Given the description of an element on the screen output the (x, y) to click on. 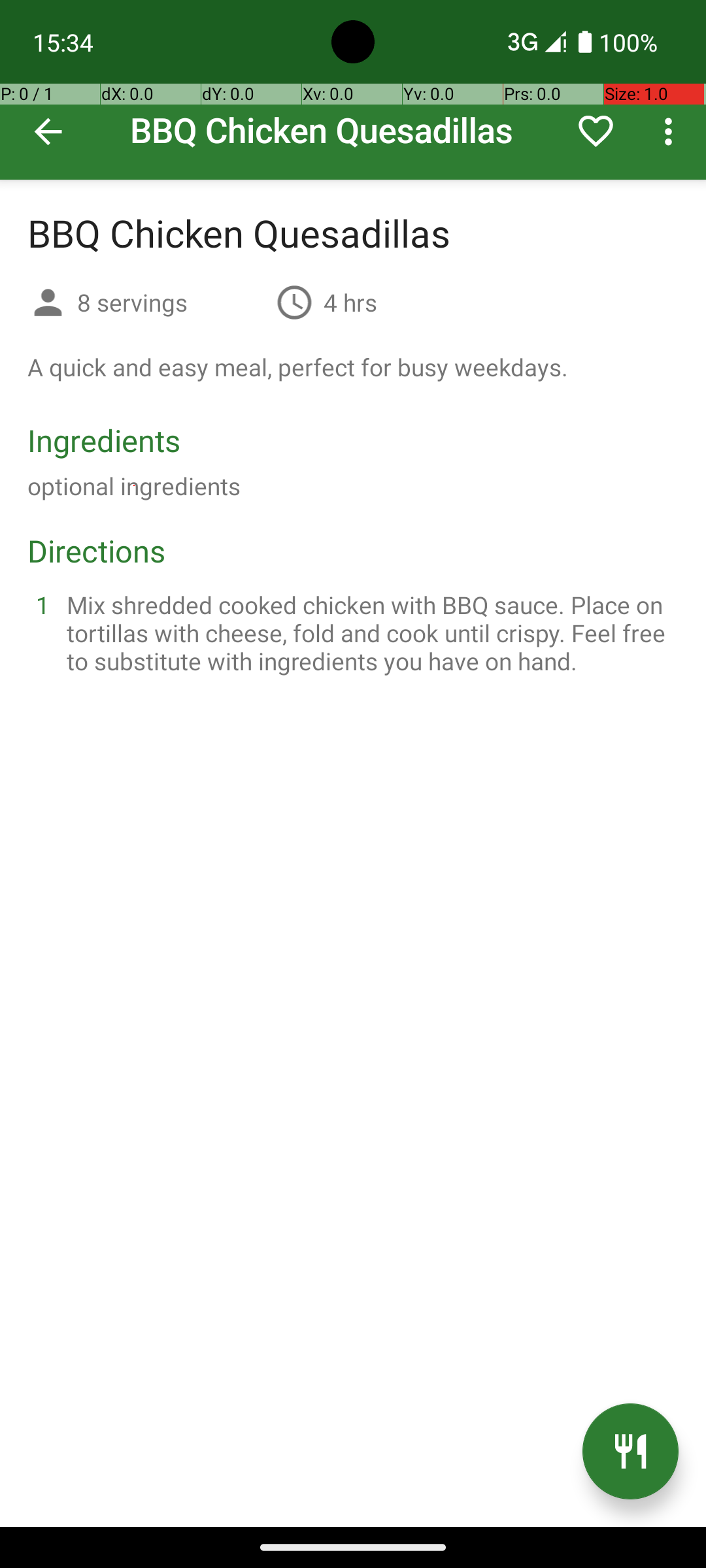
4 hrs Element type: android.widget.TextView (350, 301)
optional ingredients Element type: android.widget.TextView (133, 485)
Mix shredded cooked chicken with BBQ sauce. Place on tortillas with cheese, fold and cook until crispy. Feel free to substitute with ingredients you have on hand. Element type: android.widget.TextView (368, 632)
